Given the description of an element on the screen output the (x, y) to click on. 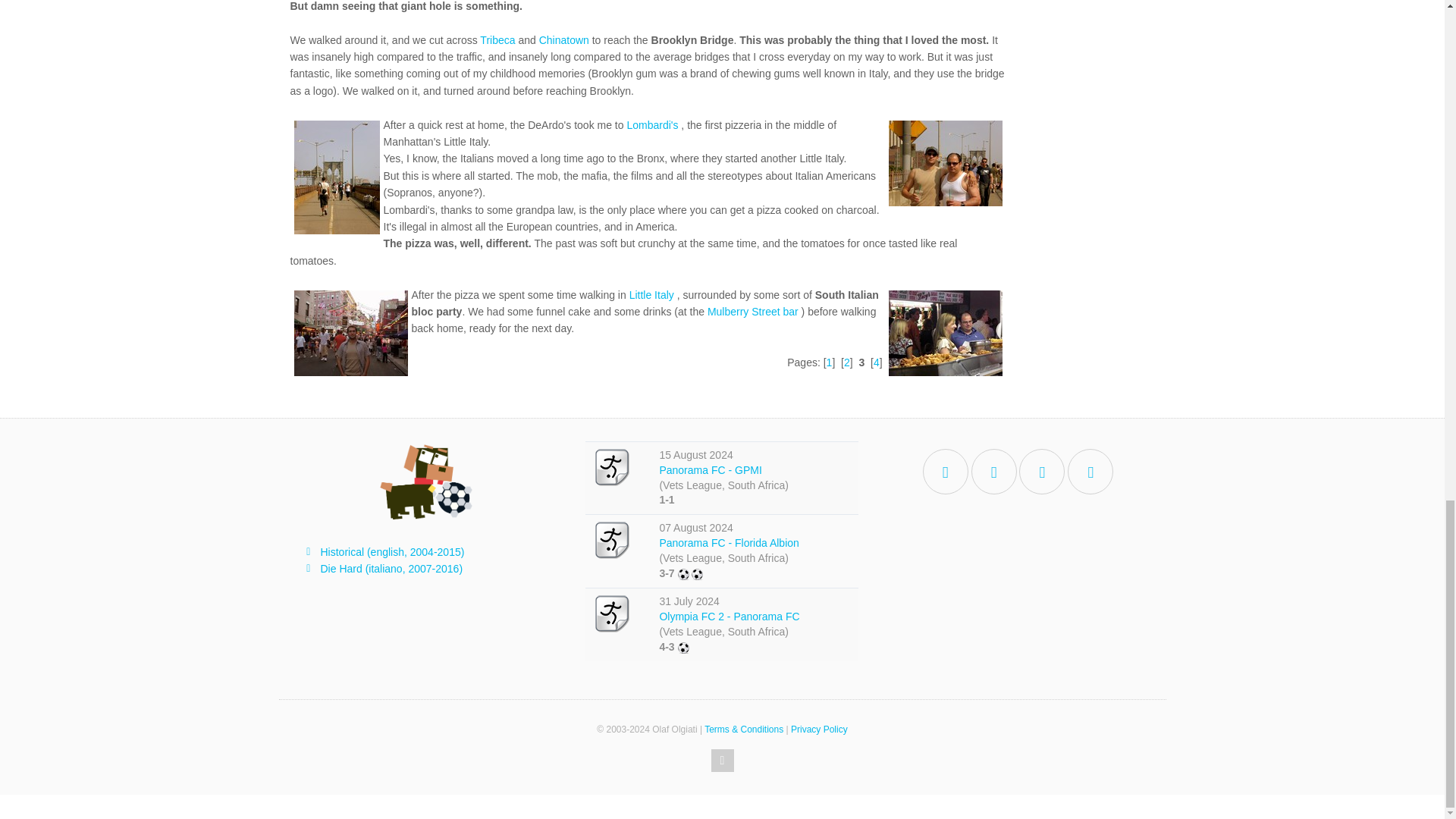
Buying Funnel Cake (945, 332)
Mulberry Street bar (752, 311)
Tribeca (497, 39)
Olaf and Ian (945, 163)
Little Italy (651, 295)
Olaf in little Italy (350, 332)
Chinatown (563, 39)
Lombardi's (652, 124)
